Given the description of an element on the screen output the (x, y) to click on. 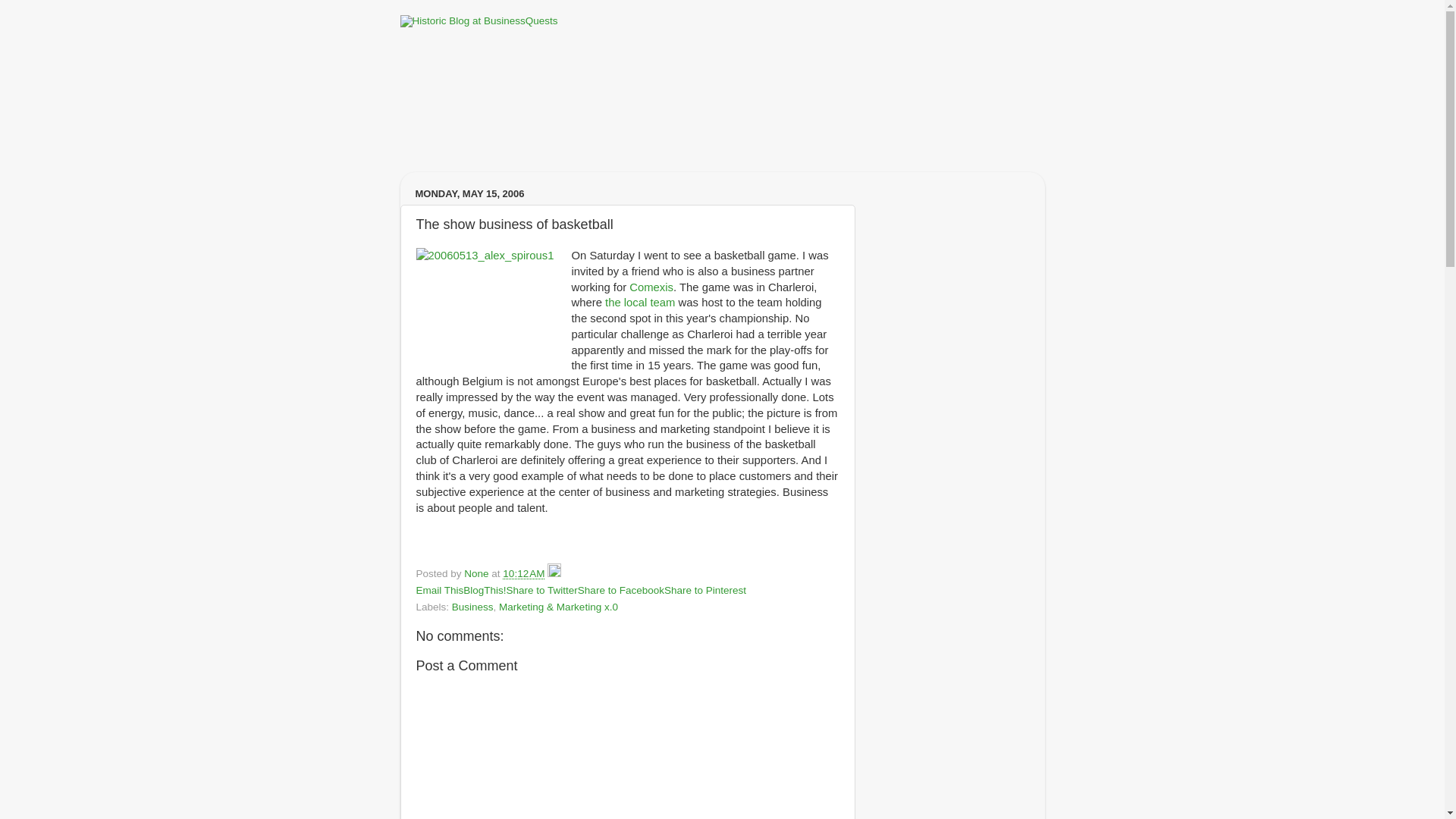
BlogThis! (484, 590)
Share to Pinterest (704, 590)
Share to Facebook (620, 590)
BlogThis! (484, 590)
None (478, 573)
Comexis (650, 287)
permanent link (523, 573)
Email This (438, 590)
Share to Pinterest (704, 590)
Share to Twitter (542, 590)
author profile (478, 573)
Share to Twitter (542, 590)
Edit Post (553, 573)
Business (472, 606)
